Given the description of an element on the screen output the (x, y) to click on. 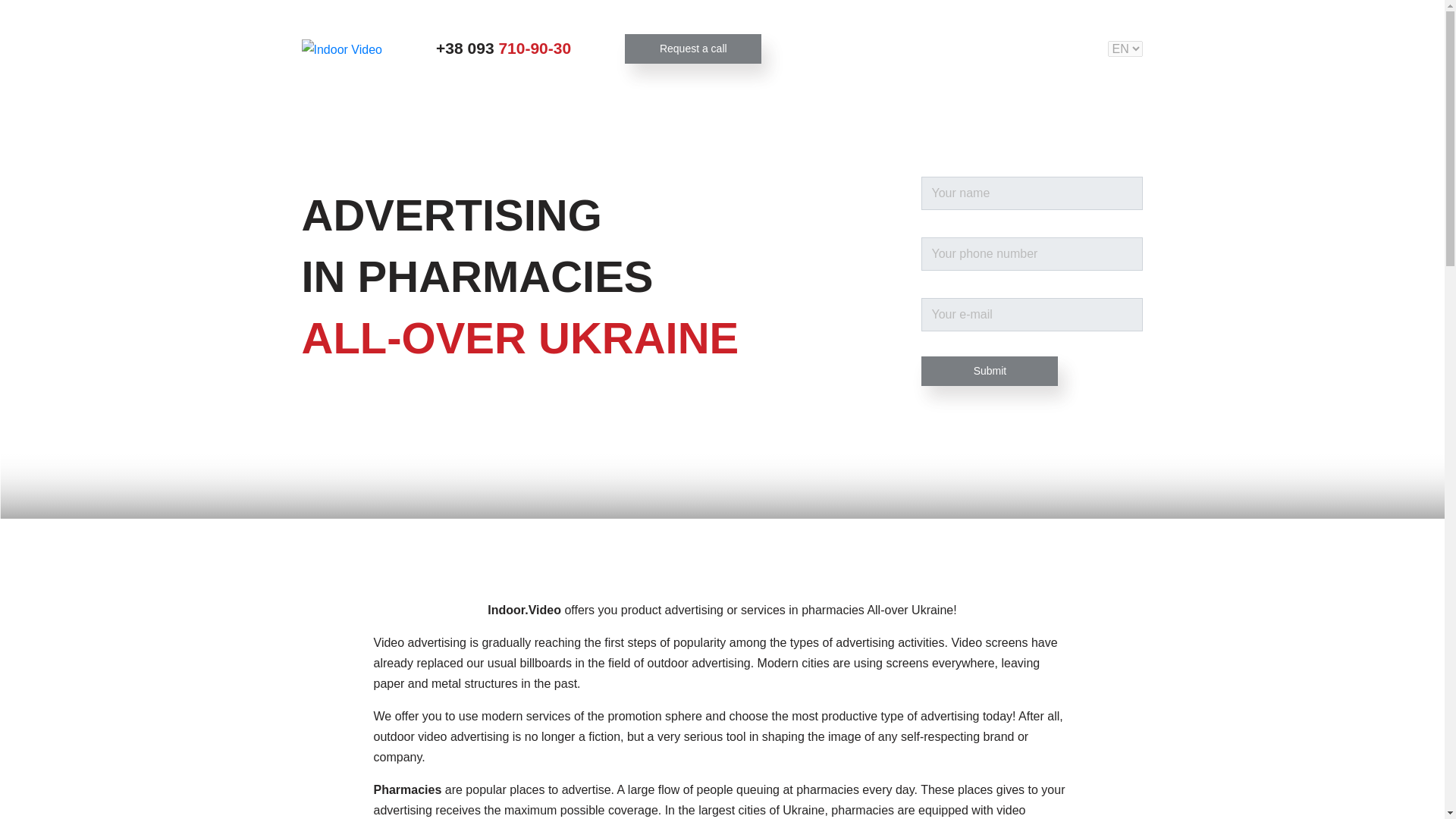
About as (933, 48)
Services (839, 48)
Contacts (1028, 48)
Submit (989, 370)
Submit (989, 370)
Request a call (692, 48)
